Given the description of an element on the screen output the (x, y) to click on. 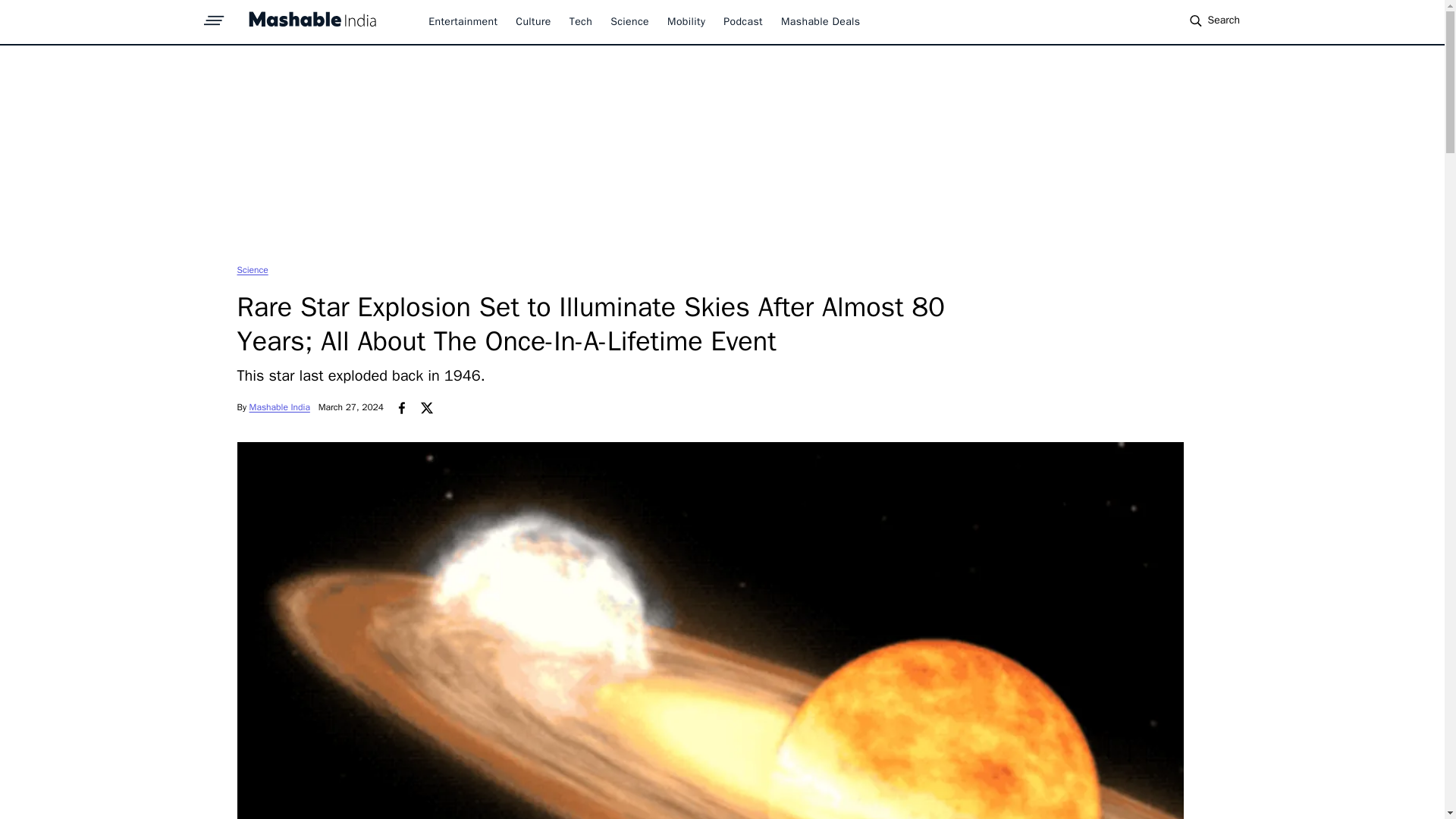
Tech (580, 21)
Podcast (742, 21)
Science (629, 21)
Mobility (685, 21)
Science (251, 269)
Mashable Deals (820, 21)
Entertainment (462, 21)
Mashable India (279, 407)
sprite-hamburger (213, 16)
Culture (532, 21)
Science (251, 269)
